Given the description of an element on the screen output the (x, y) to click on. 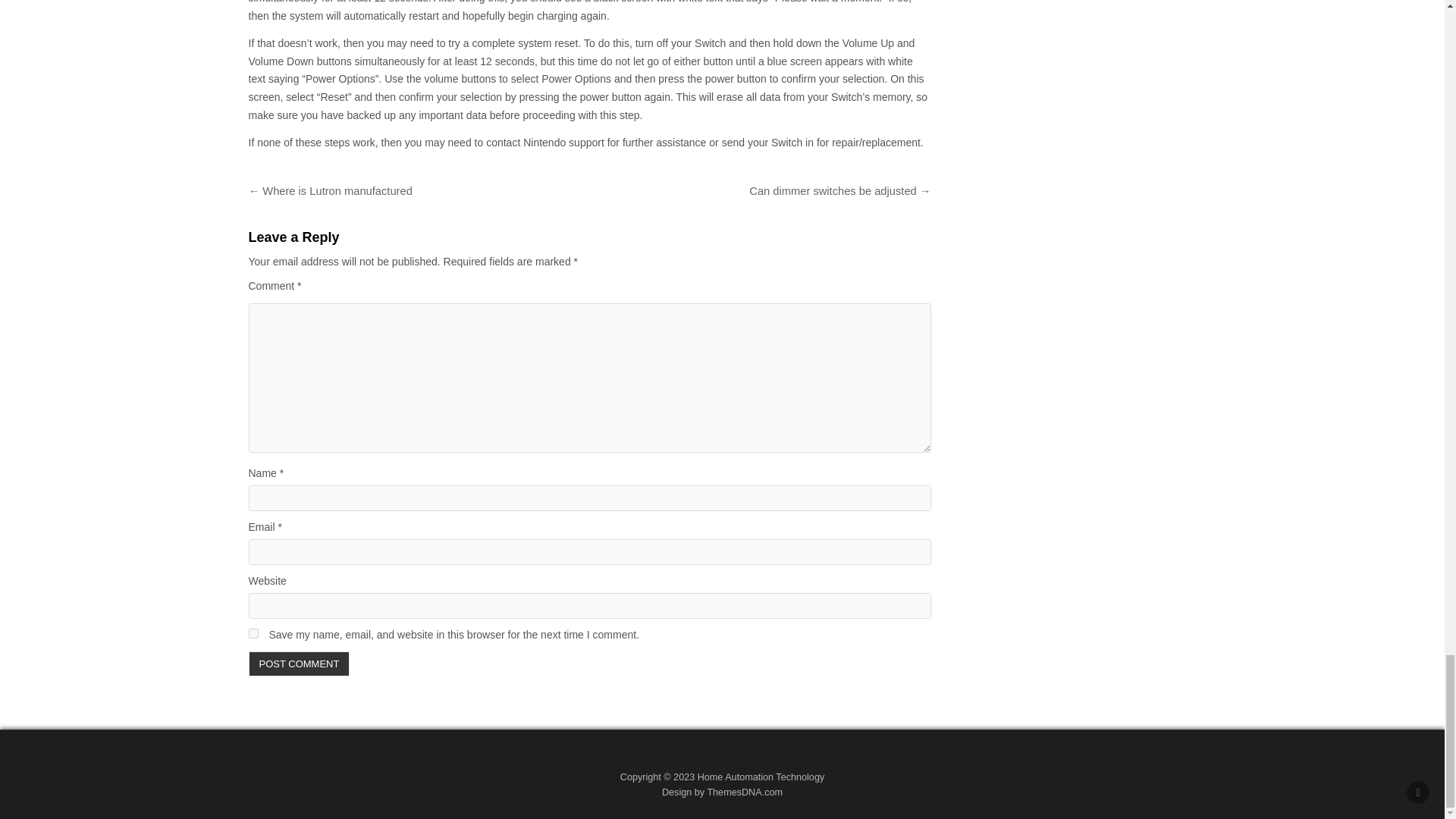
Post Comment (299, 663)
Post Comment (299, 663)
Design by ThemesDNA.com (722, 792)
yes (253, 633)
